Given the description of an element on the screen output the (x, y) to click on. 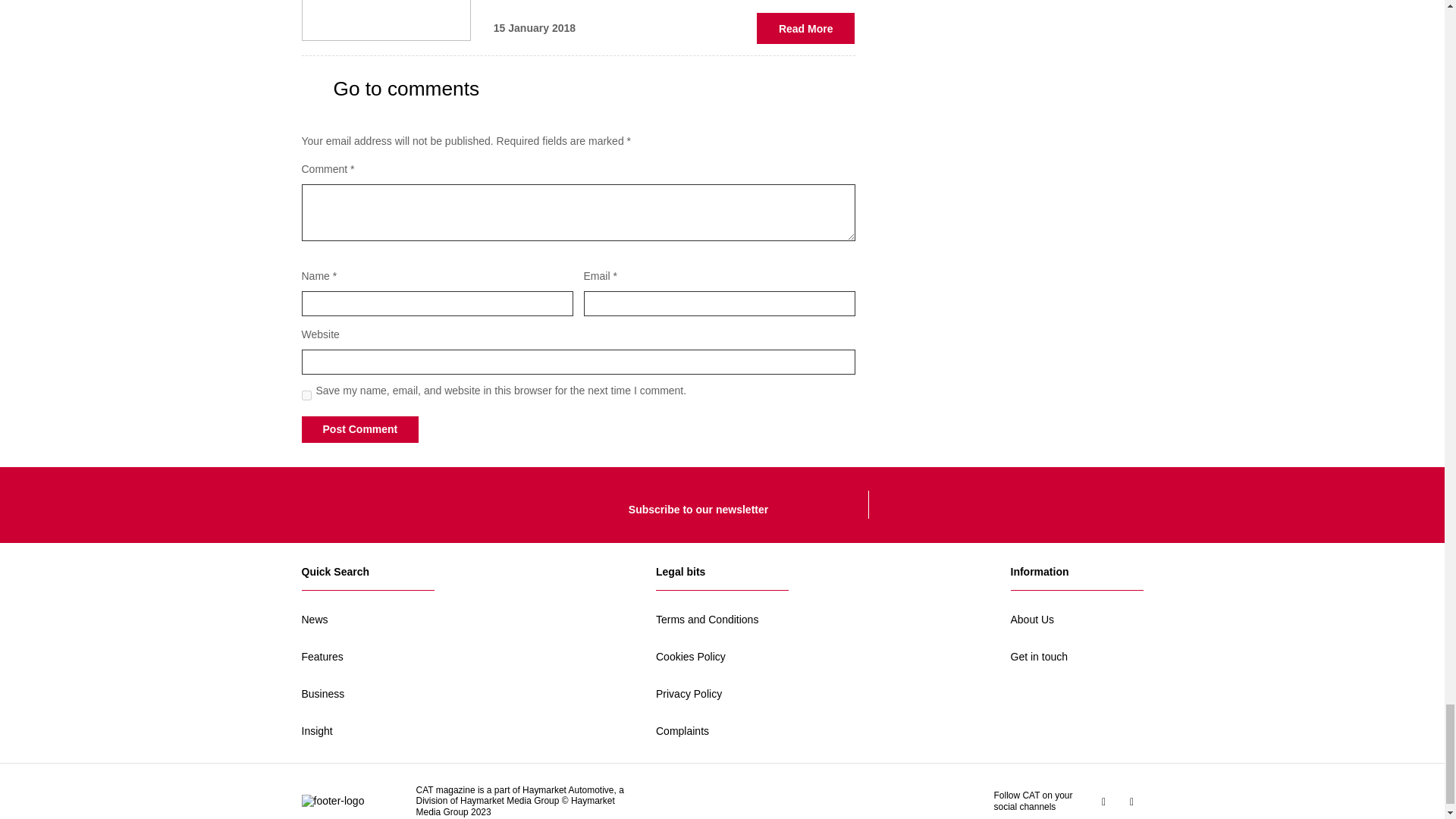
Read More (806, 28)
Post Comment (360, 429)
